Given the description of an element on the screen output the (x, y) to click on. 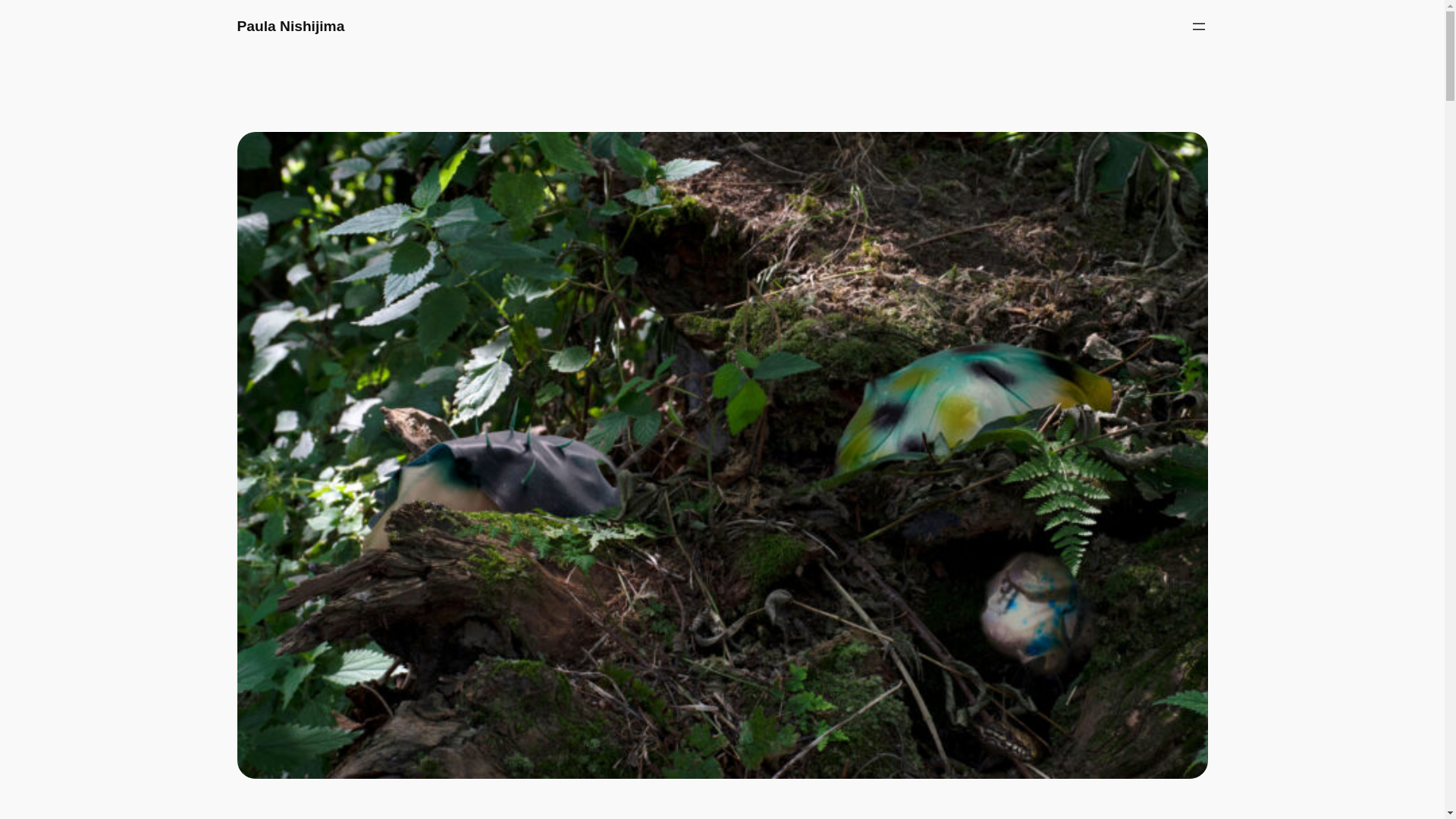
Paula Nishijima (289, 26)
